Given the description of an element on the screen output the (x, y) to click on. 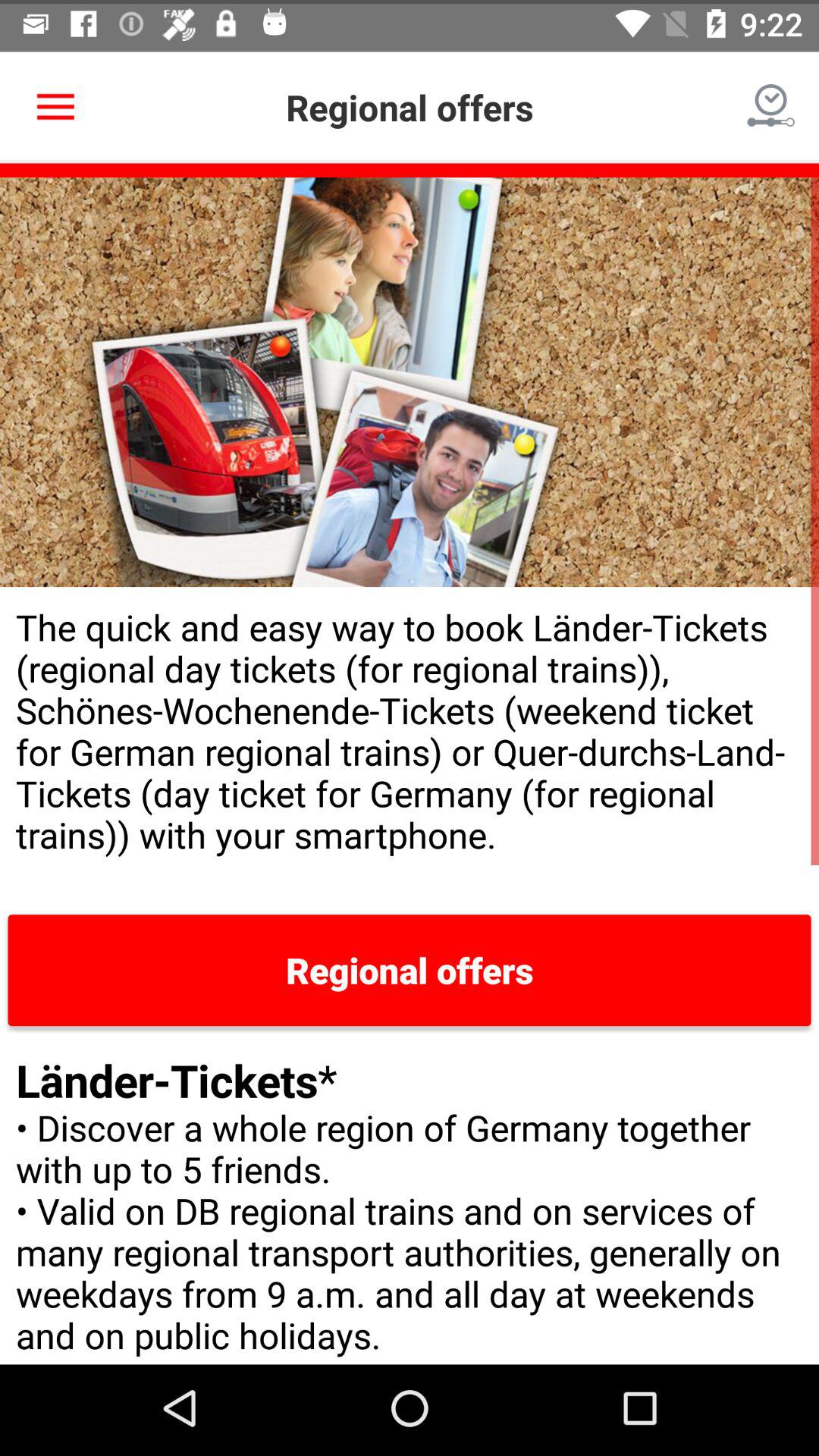
launch the icon to the right of the regional offers (771, 103)
